Given the description of an element on the screen output the (x, y) to click on. 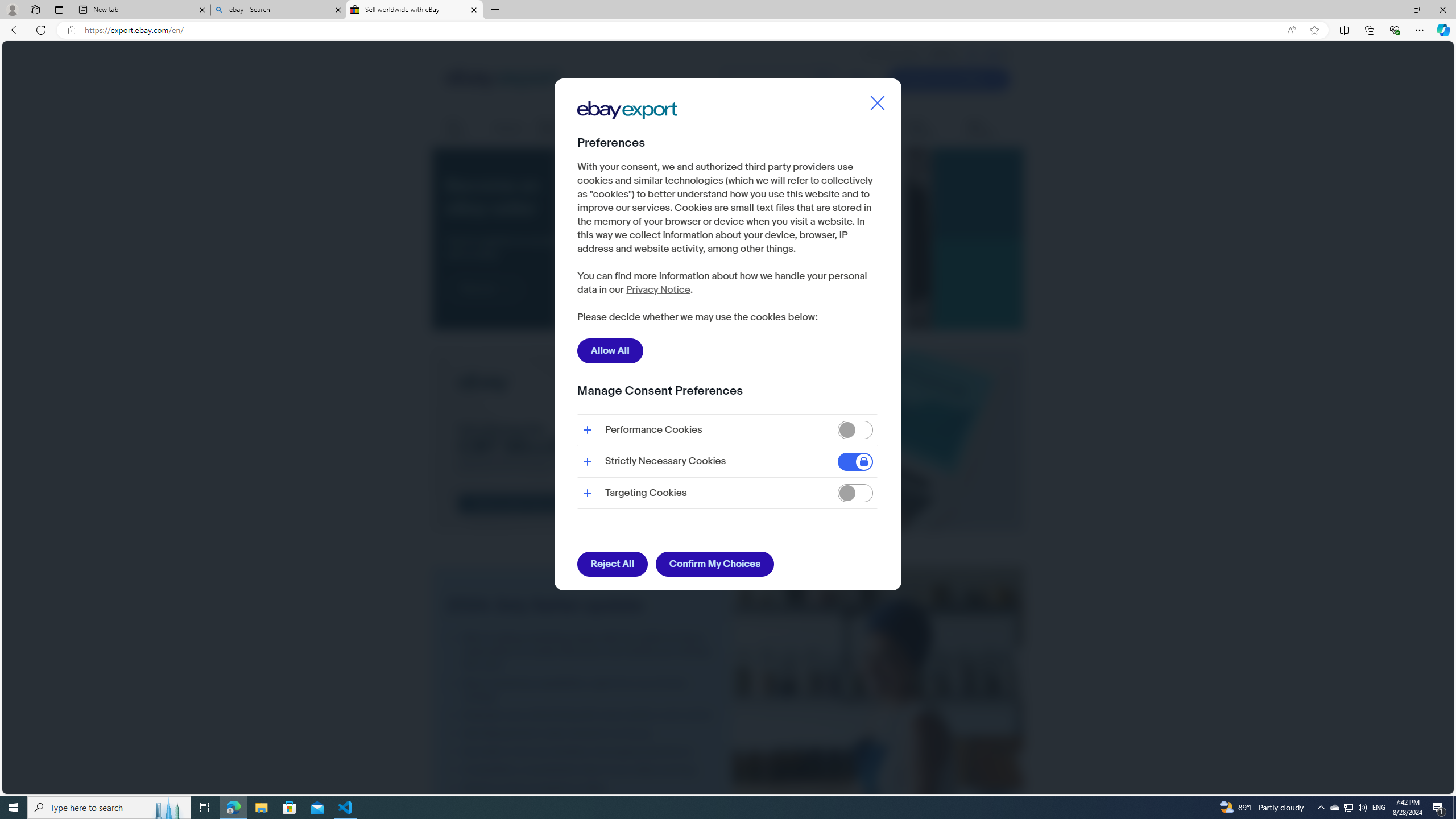
Read aloud this page (Ctrl+Shift+U) (1291, 29)
Targeting Cookies (855, 493)
Shipping (507, 127)
App bar (728, 29)
Class: search-input__icon (823, 79)
View site information (70, 29)
Get eBay product sales research on the go (582, 733)
Seller updates (928, 128)
Say hello to the new desktop messaging experience (582, 751)
Class: btn__arrow (505, 288)
Regulations & policies (807, 128)
Search (779, 78)
